Given the description of an element on the screen output the (x, y) to click on. 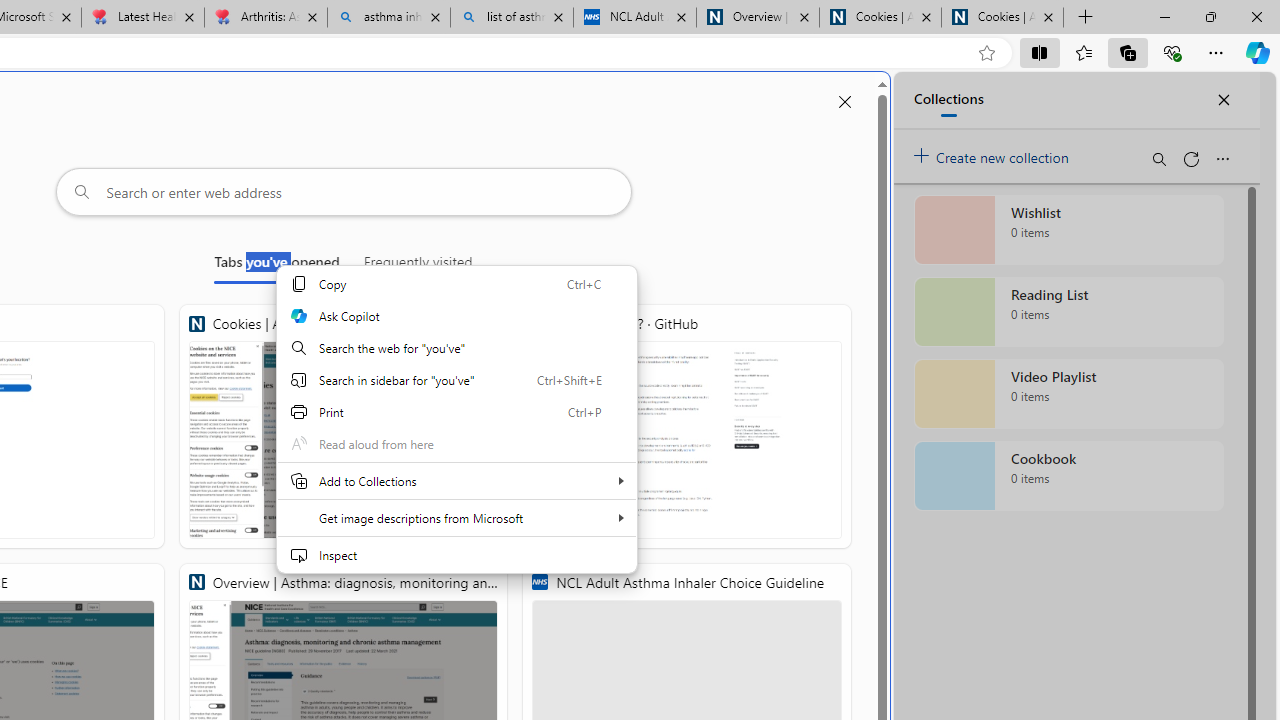
asthma inhaler - Search (388, 17)
Get image descriptions from Microsoft (456, 517)
Search or enter web address (343, 191)
